Given the description of an element on the screen output the (x, y) to click on. 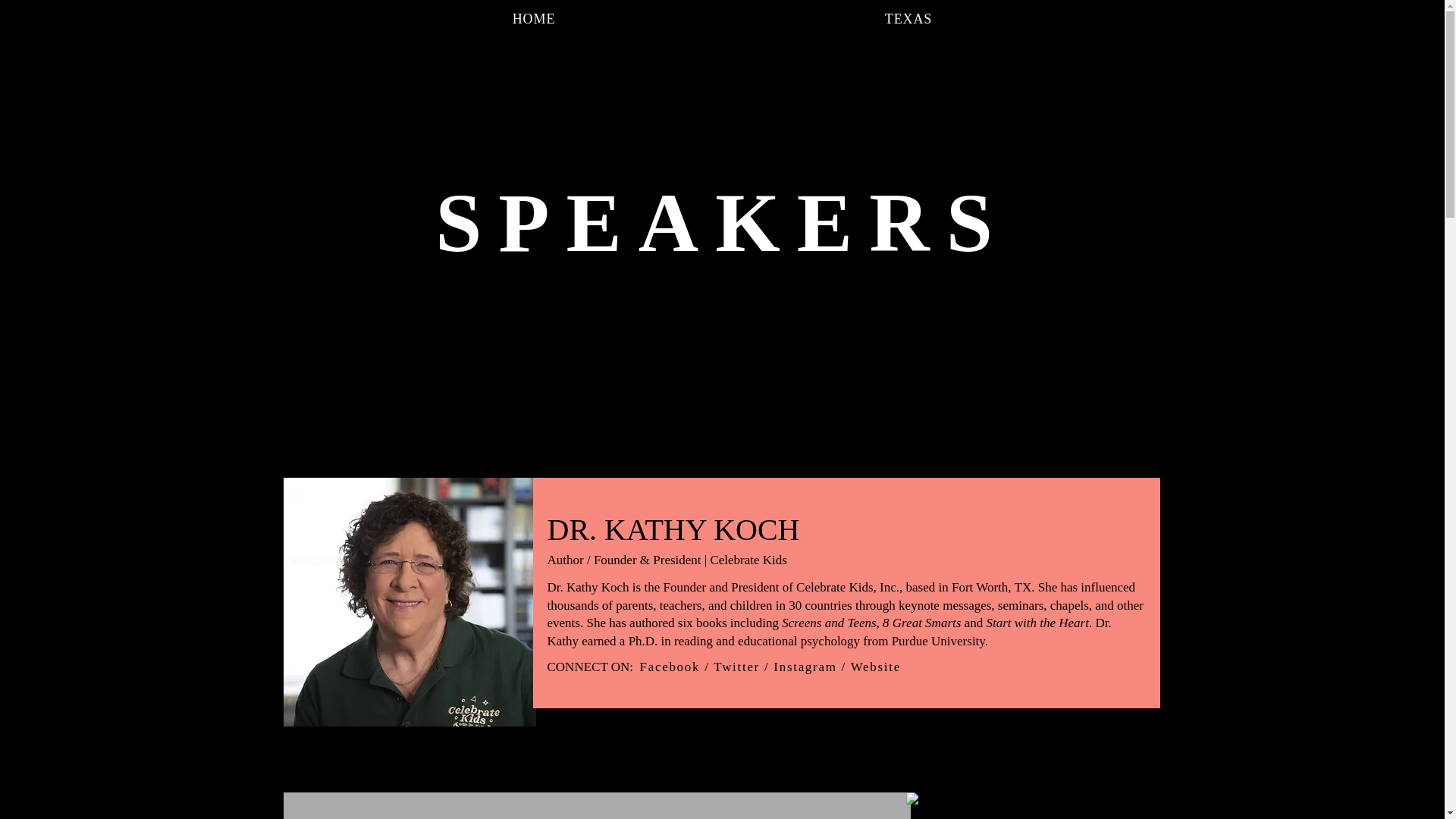
Facebook (670, 667)
Twitter (736, 667)
Website (875, 667)
HOME (533, 19)
Instagram (804, 667)
TEXAS (908, 19)
